Given the description of an element on the screen output the (x, y) to click on. 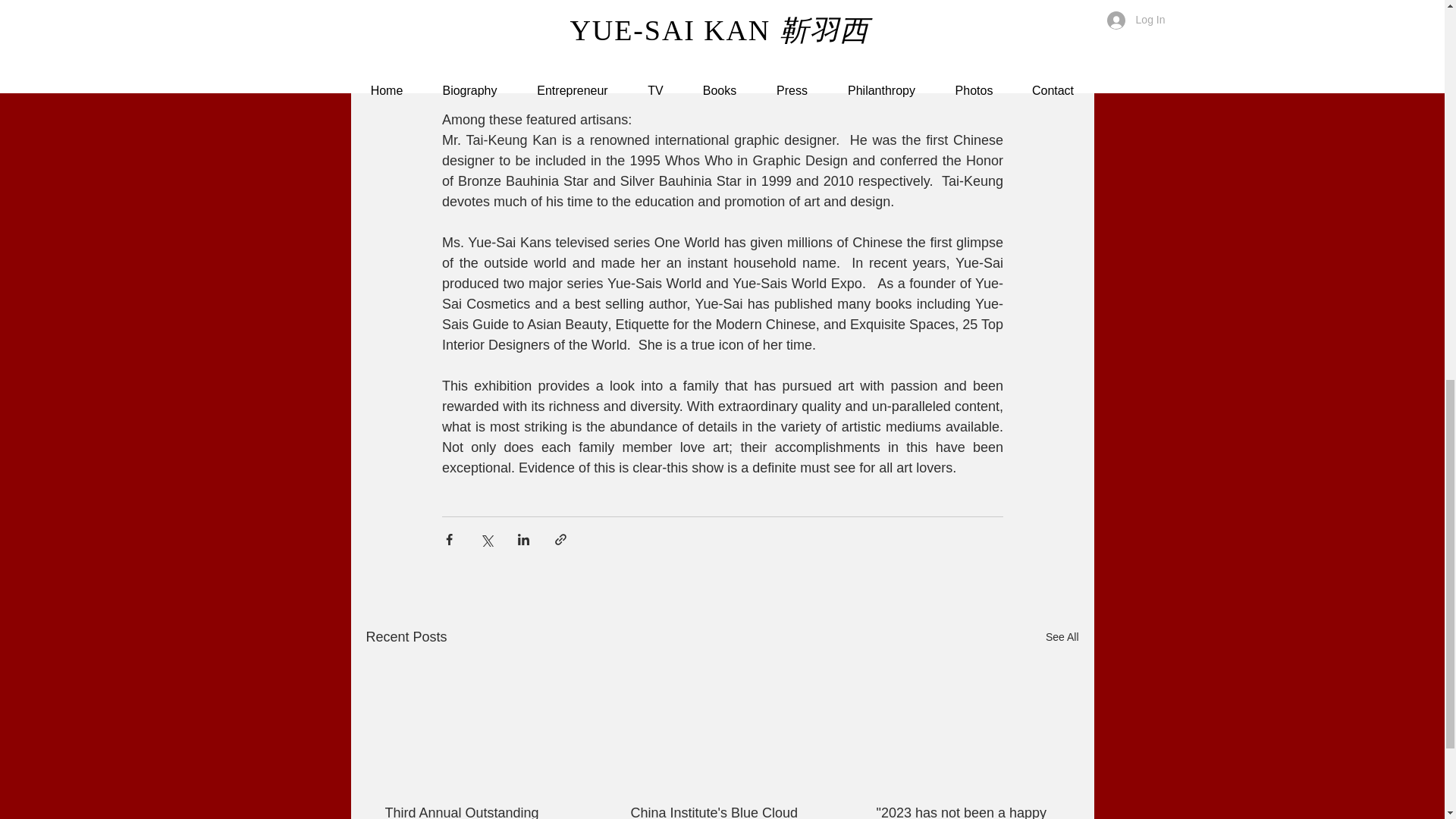
See All (1061, 637)
